Given the description of an element on the screen output the (x, y) to click on. 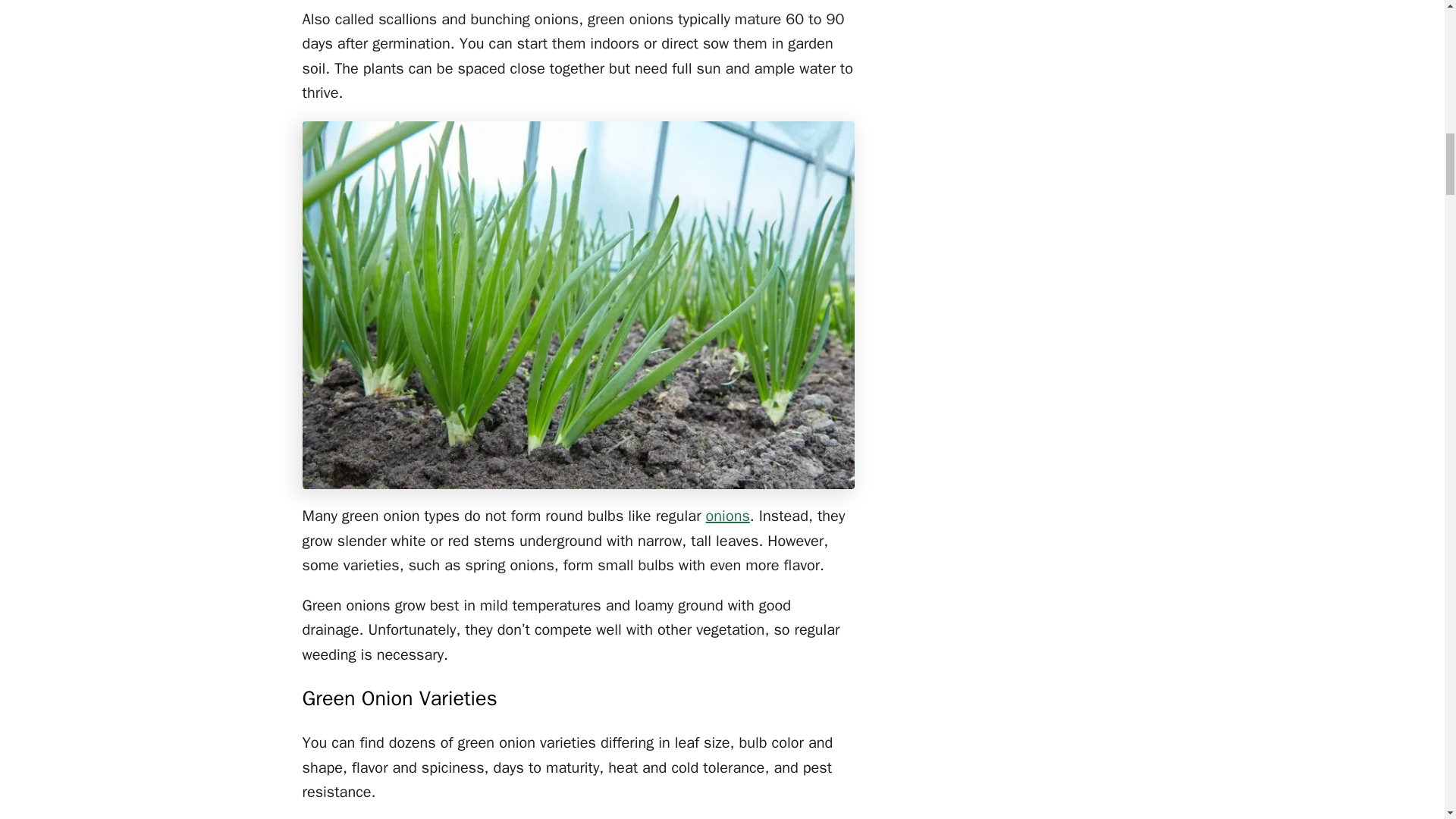
onions (727, 515)
